Given the description of an element on the screen output the (x, y) to click on. 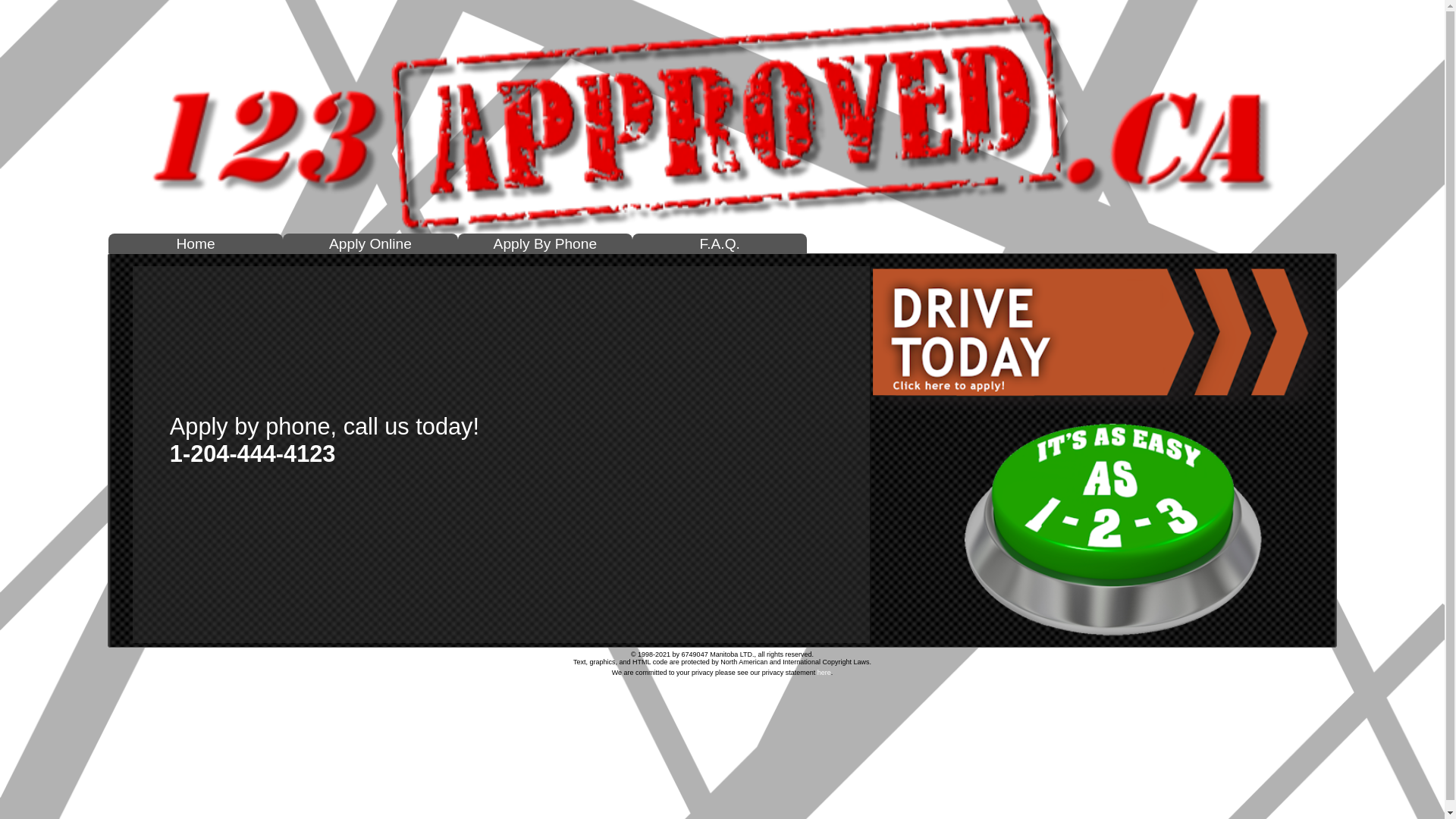
F.A.Q. Element type: text (719, 244)
Apply By Phone Element type: text (545, 244)
Apply Online Element type: text (369, 244)
Home Element type: text (195, 244)
here Element type: text (824, 672)
